Given the description of an element on the screen output the (x, y) to click on. 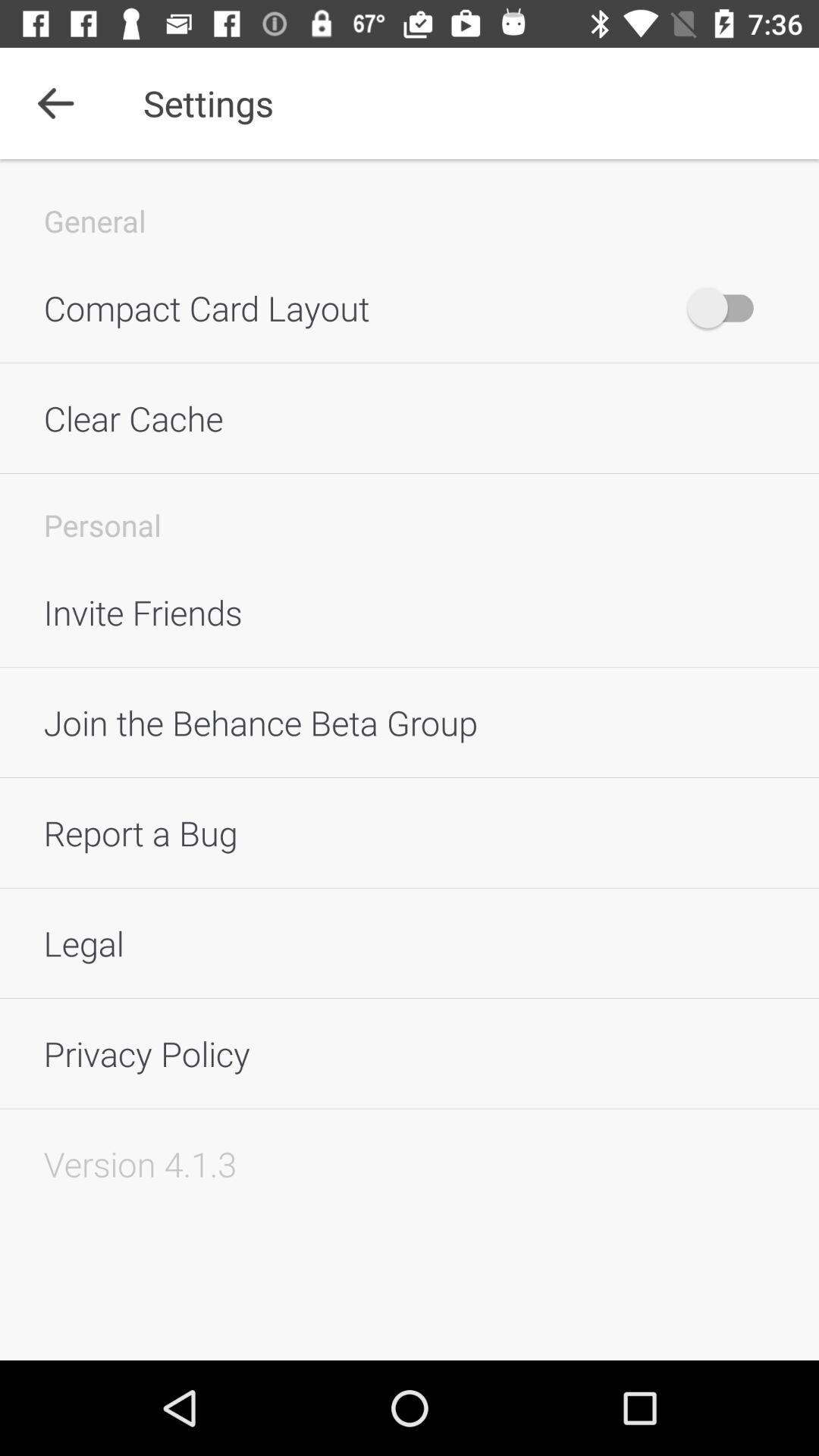
toggle compact layout on/off (727, 307)
